Given the description of an element on the screen output the (x, y) to click on. 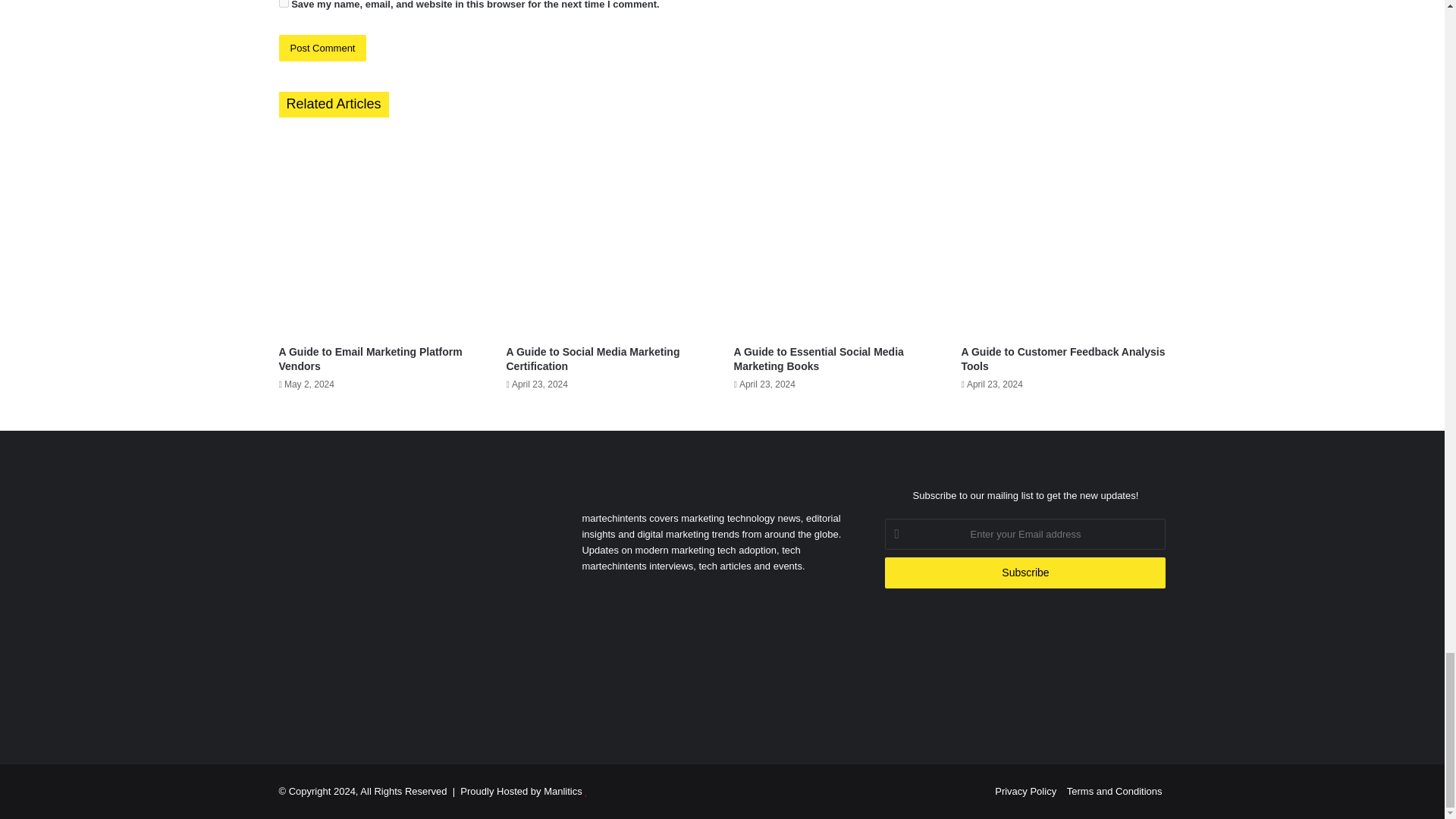
yes (283, 3)
Subscribe (1025, 572)
Post Comment (322, 48)
